Given the description of an element on the screen output the (x, y) to click on. 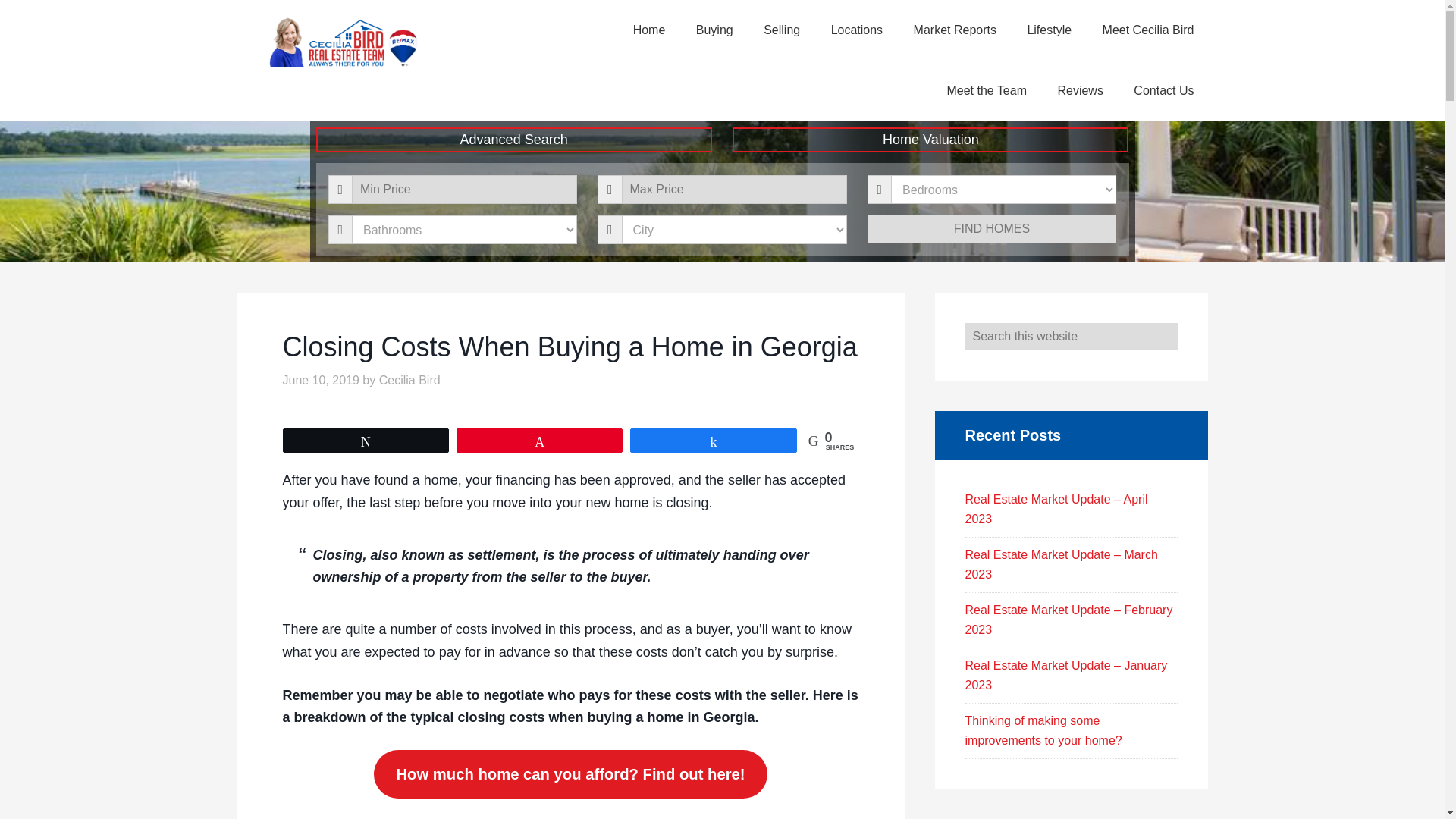
Home (649, 30)
Advanced Search (513, 139)
Home Valuation (930, 139)
FIND HOMES (991, 228)
Buying (714, 30)
Market Reports (954, 30)
Cecilia Bird (409, 379)
Meet Cecilia Bird (1148, 30)
Locations (856, 30)
Selling (781, 30)
Reviews (1079, 90)
Meet the Team (987, 90)
Lifestyle (1048, 30)
